Given the description of an element on the screen output the (x, y) to click on. 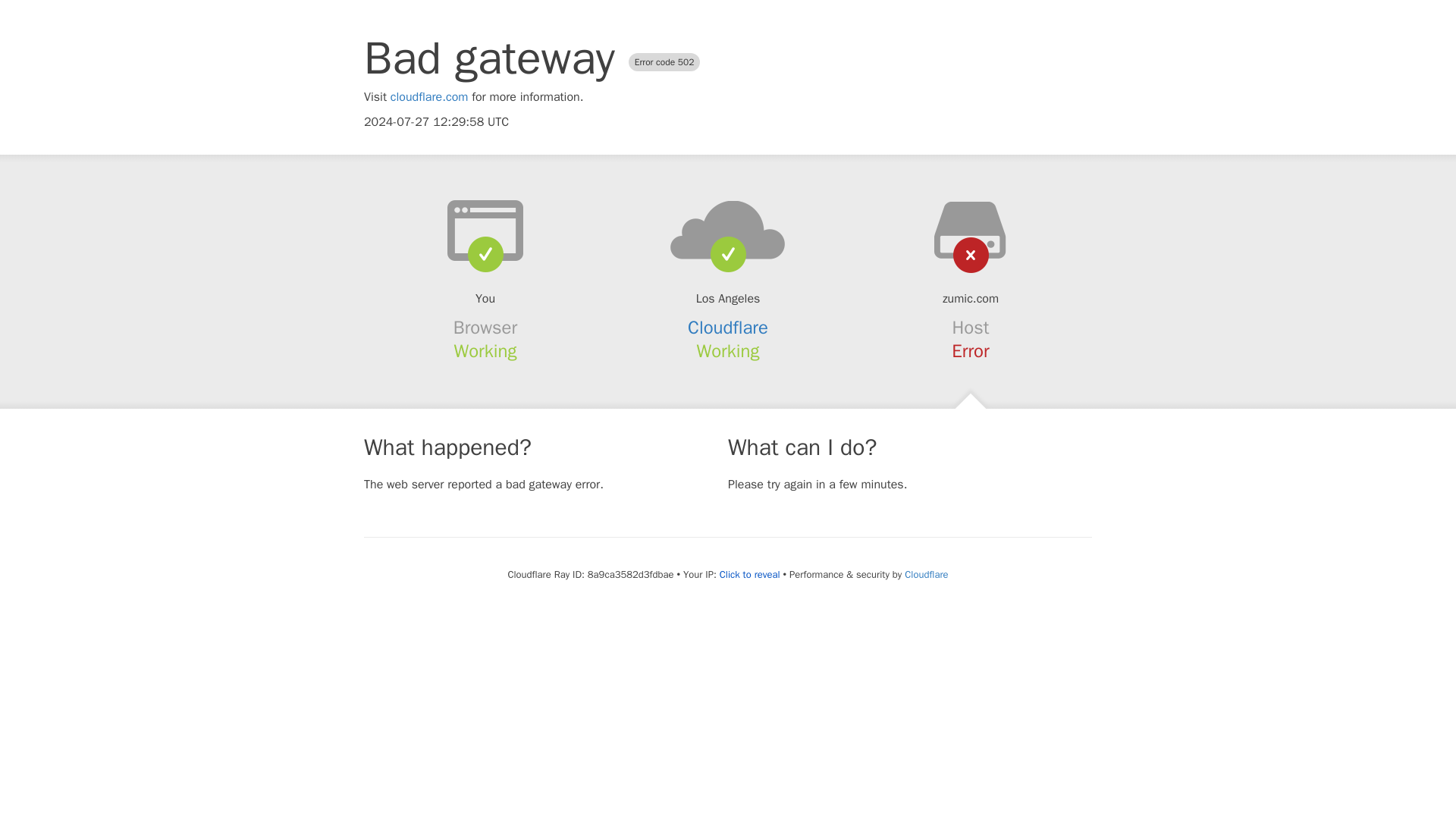
cloudflare.com (429, 96)
Click to reveal (749, 574)
Cloudflare (925, 574)
Cloudflare (727, 327)
